Given the description of an element on the screen output the (x, y) to click on. 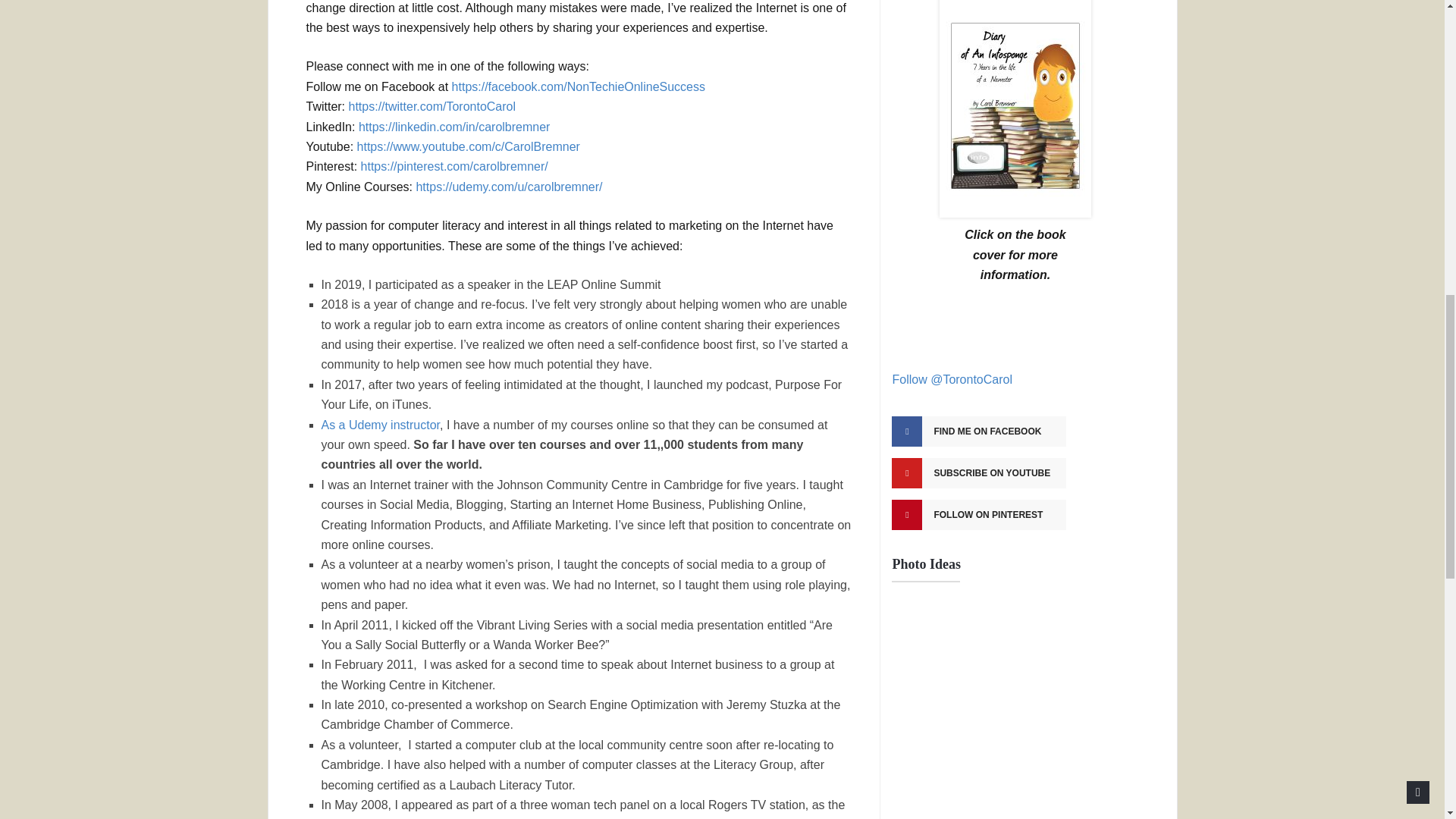
As a Udemy instructor (381, 424)
FOLLOW ON PINTEREST (978, 514)
SUBSCRIBE ON YOUTUBE (978, 472)
FIND ME ON FACEBOOK (978, 431)
